Given the description of an element on the screen output the (x, y) to click on. 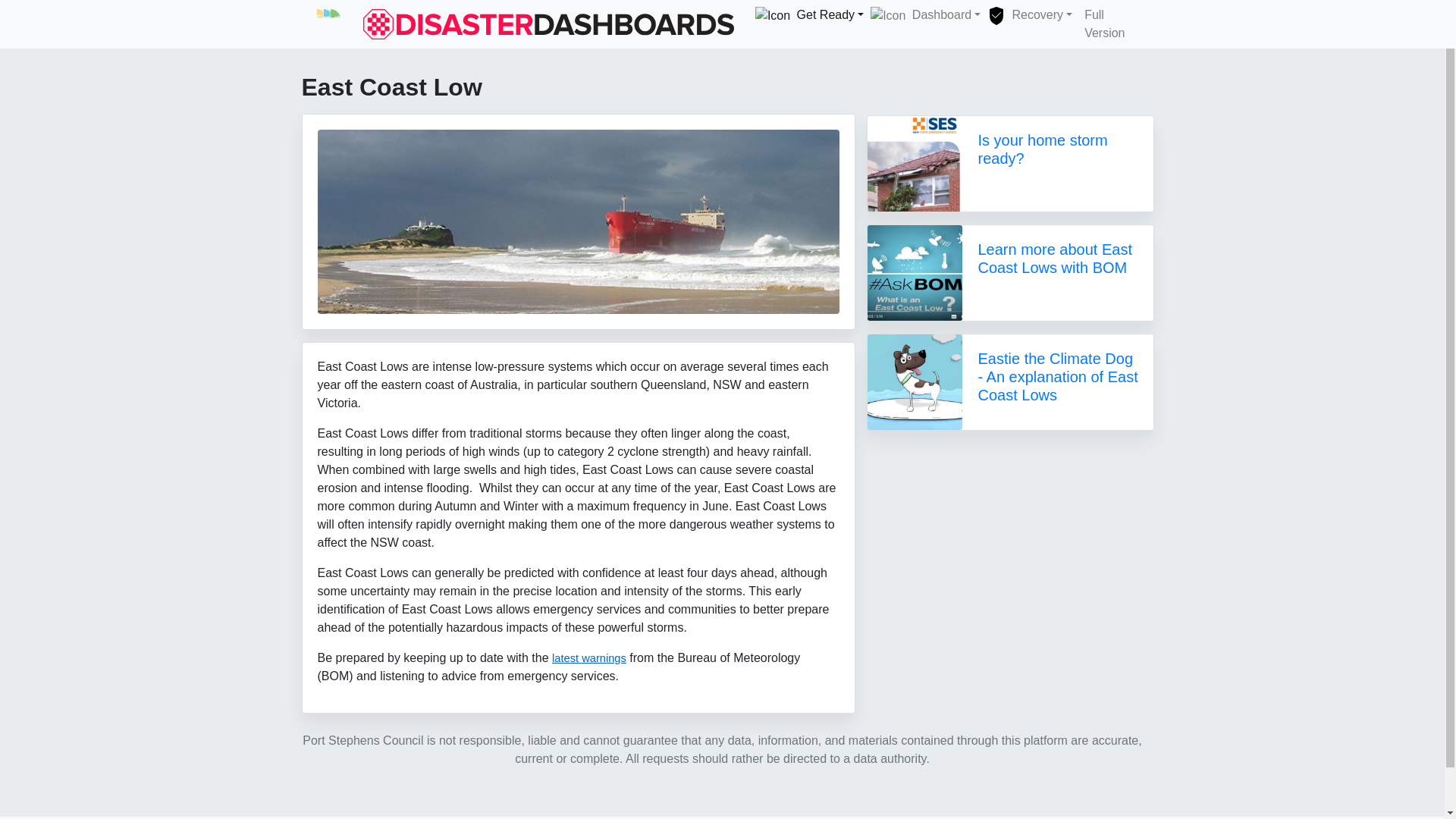
Recovery (1028, 15)
Get Ready (803, 15)
Dashboard (919, 15)
